Given the description of an element on the screen output the (x, y) to click on. 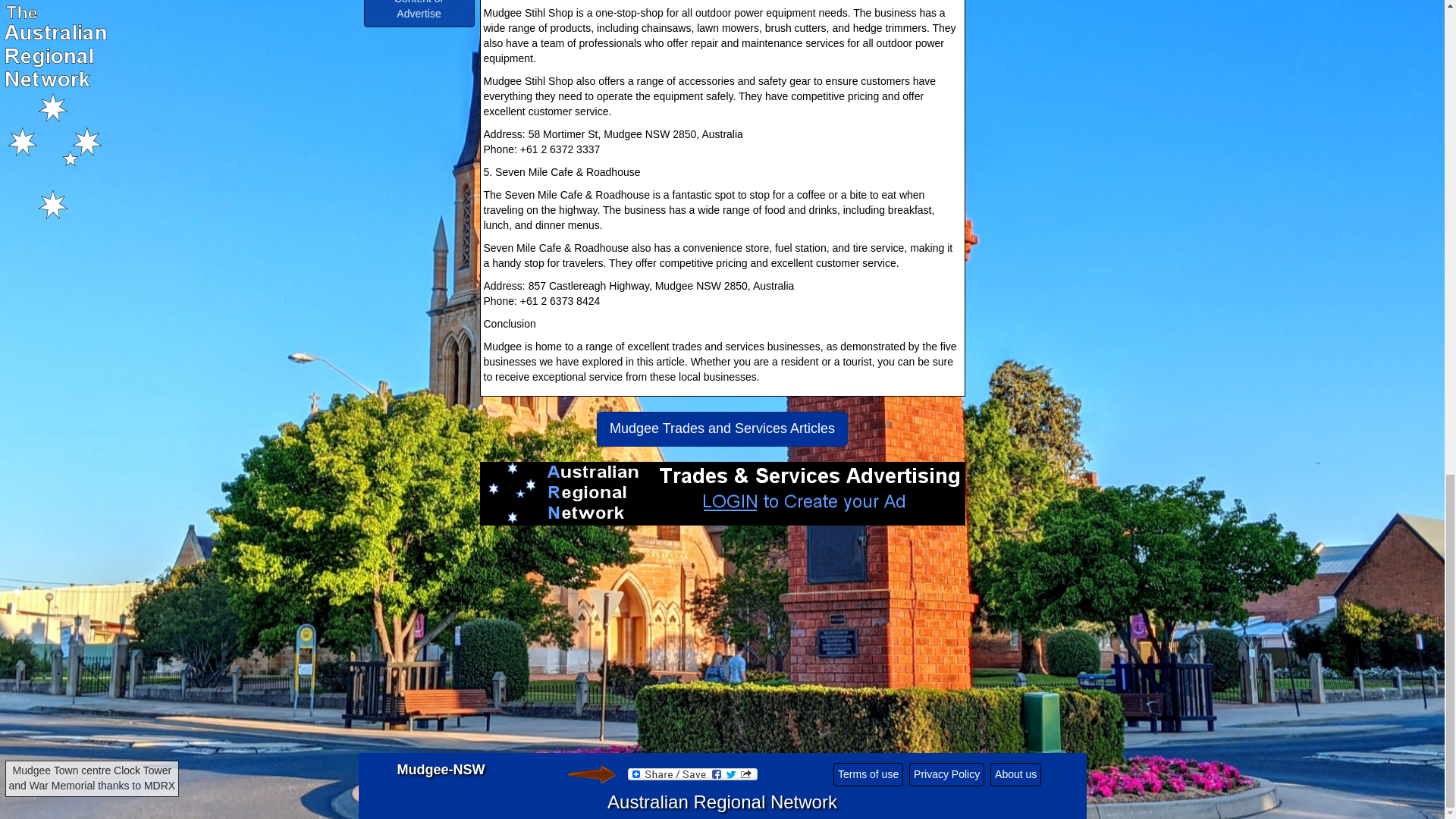
Please like our Page (590, 773)
Advertisement (721, 646)
